Given the description of an element on the screen output the (x, y) to click on. 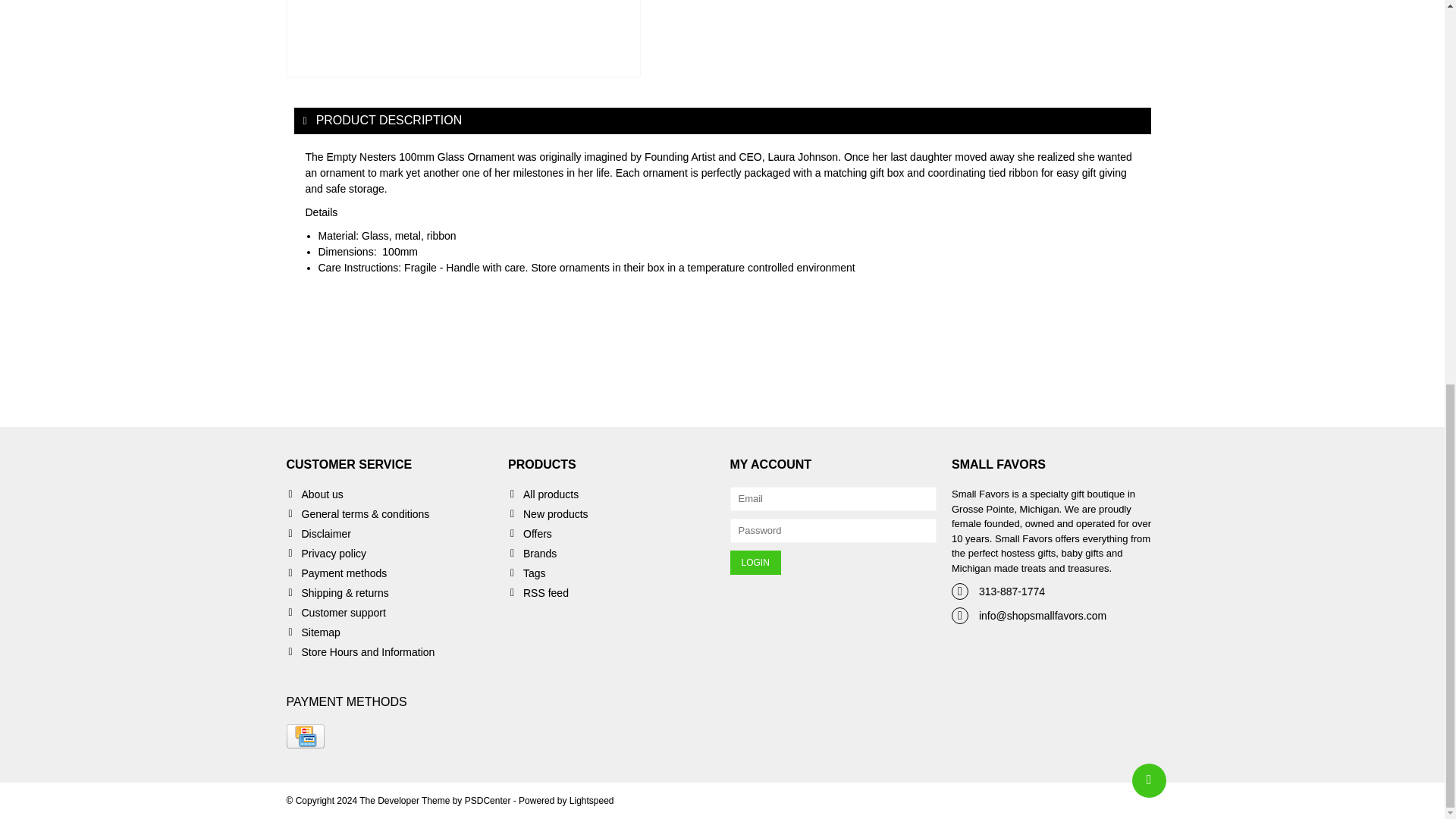
Login (754, 562)
